Given the description of an element on the screen output the (x, y) to click on. 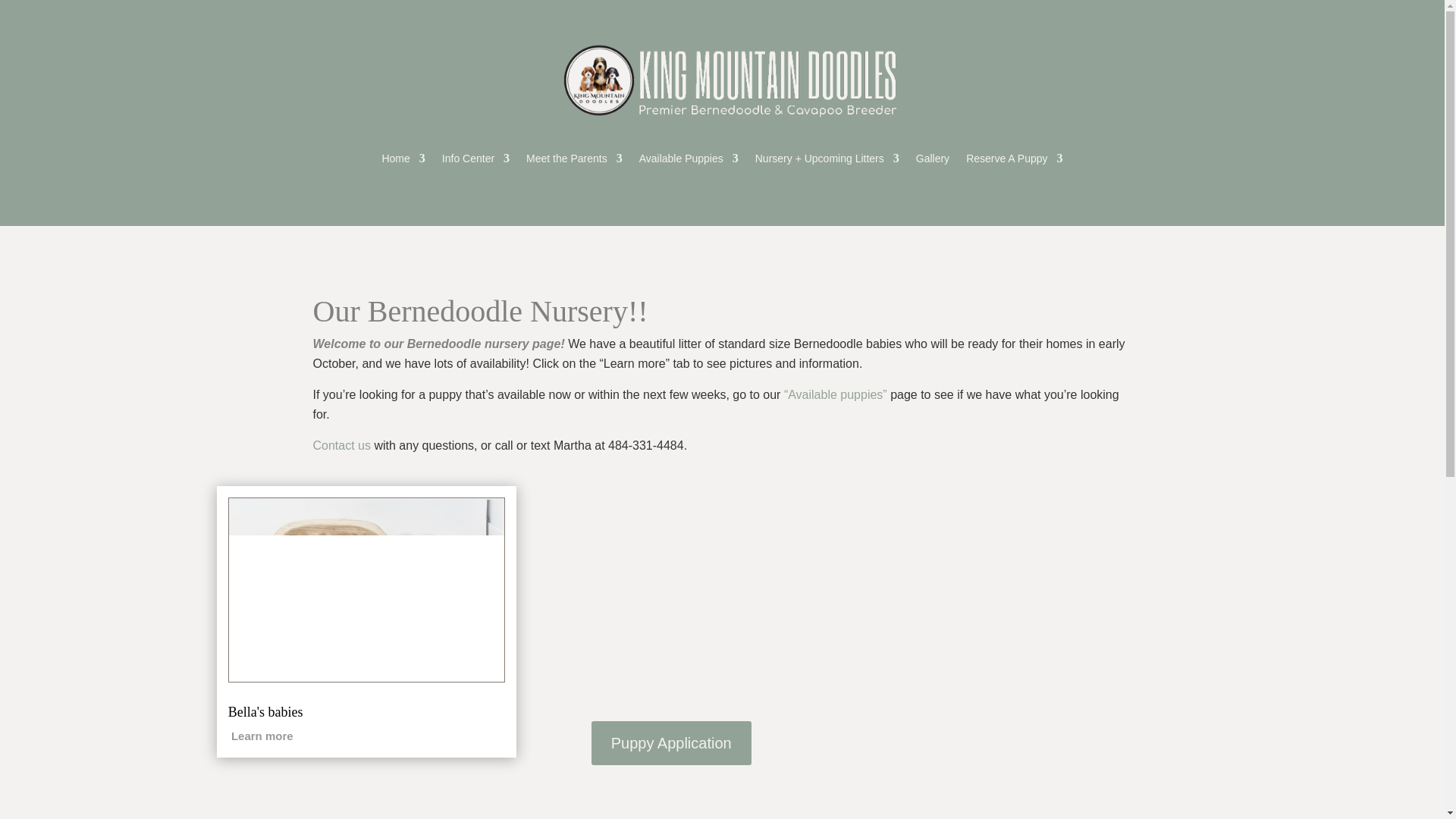
 Learn more (261, 735)
Contact us (341, 445)
Meet the Parents (574, 161)
Gallery (932, 161)
Reserve A Puppy (1014, 161)
Puppy Application (671, 742)
Info Center (475, 161)
Available Puppies (688, 161)
Home (403, 161)
Bella's babies (265, 711)
